Given the description of an element on the screen output the (x, y) to click on. 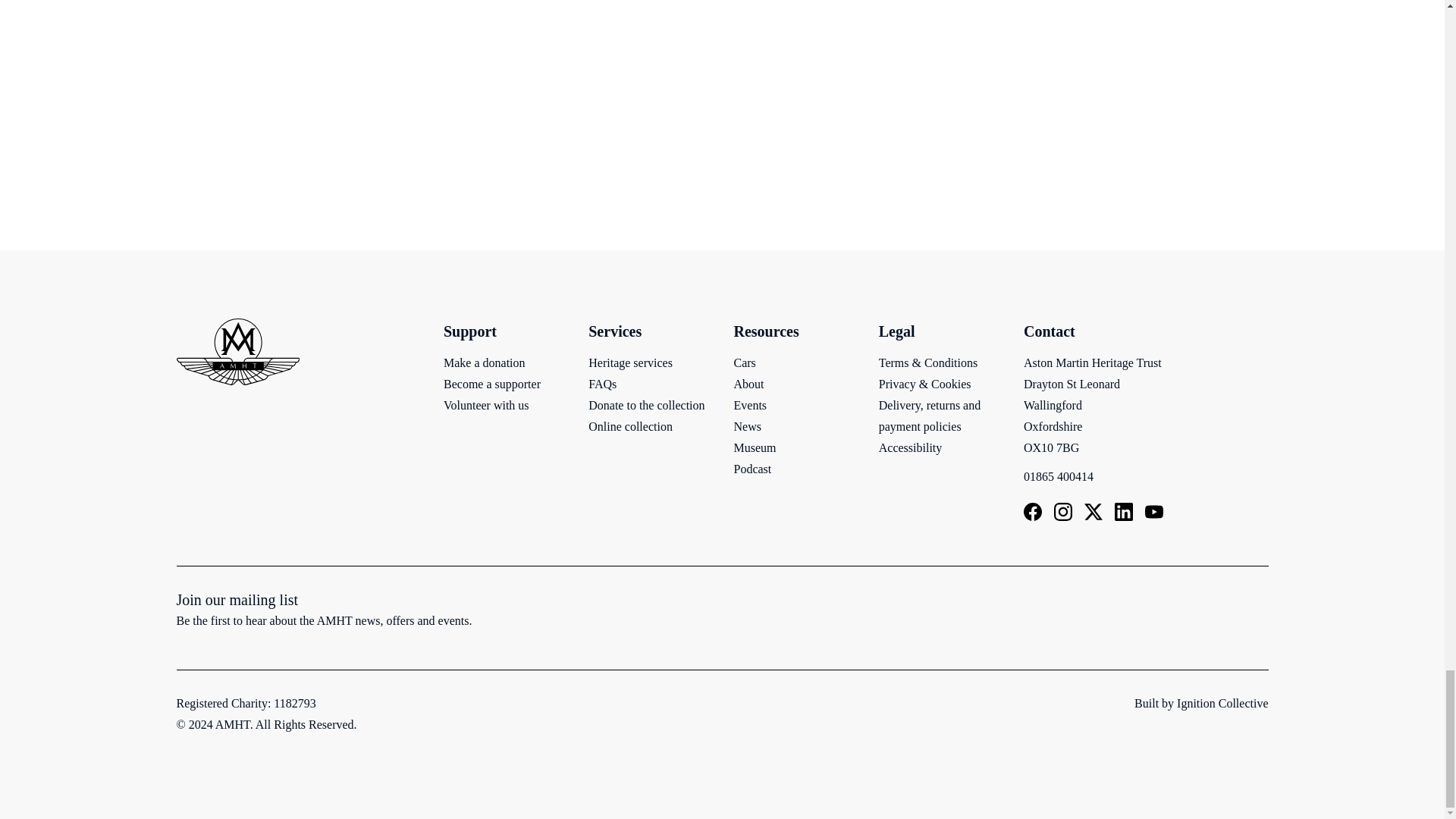
LinkedIn (1123, 511)
X (1093, 511)
Facebook (1032, 511)
Instagram (1062, 511)
YouTube (1153, 511)
